Given the description of an element on the screen output the (x, y) to click on. 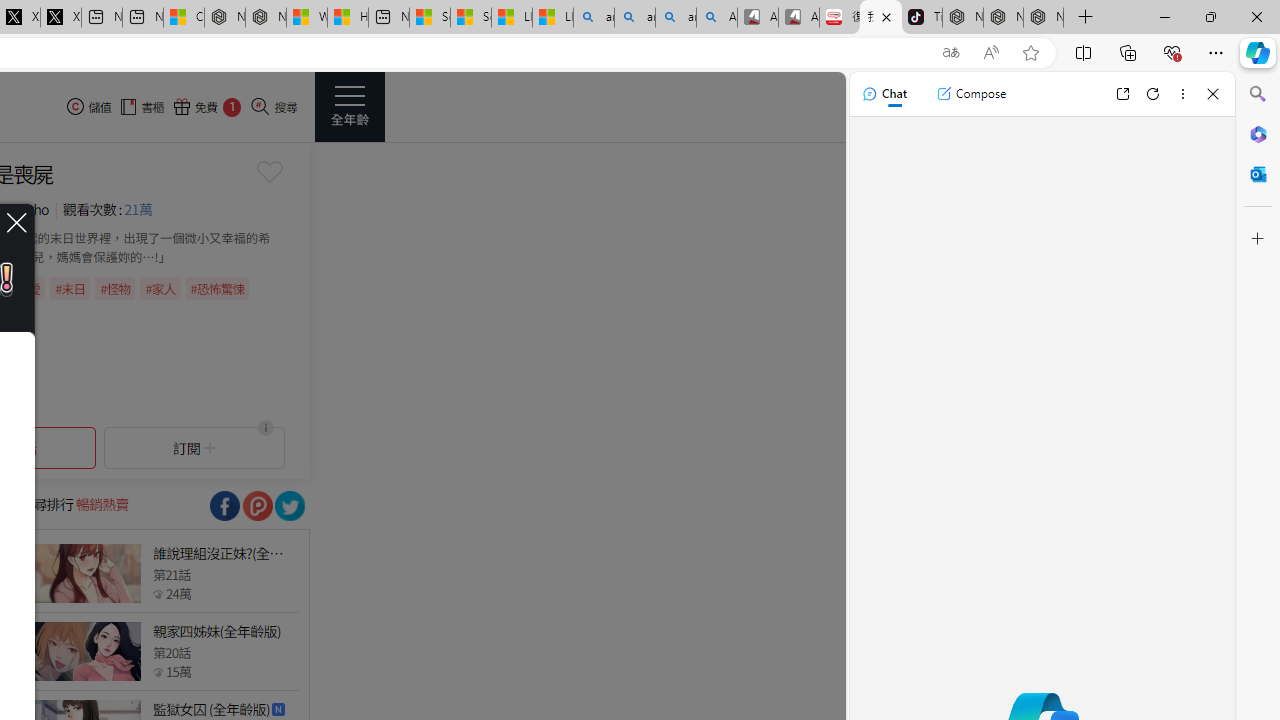
Nordace - Siena Pro 15 Essential Set (1043, 17)
Class: side_menu_btn actionRightMenuBtn (349, 106)
Class: epicon_starpoint (158, 671)
